Given the description of an element on the screen output the (x, y) to click on. 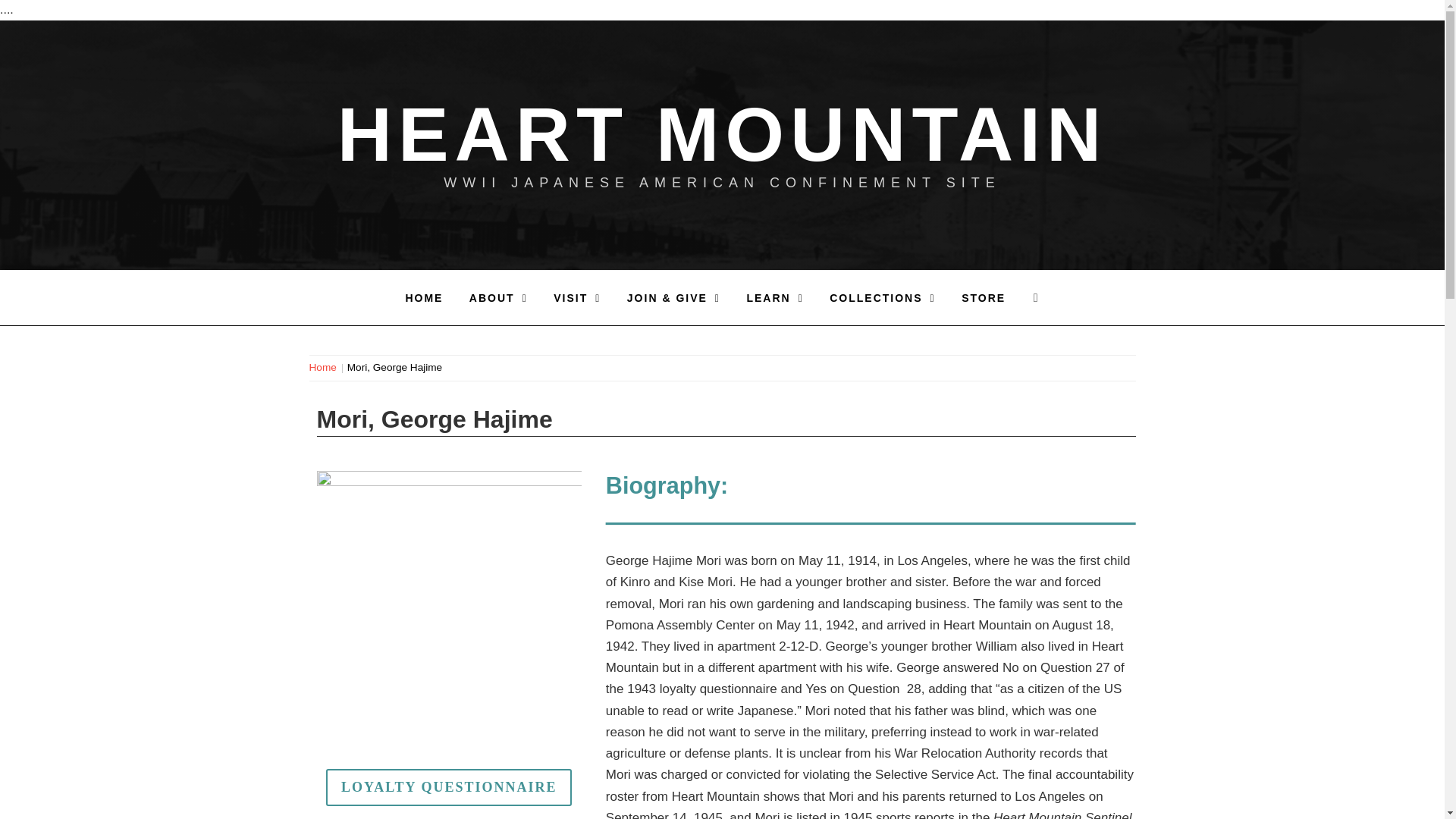
VISIT (576, 298)
ABOUT (498, 298)
HOME (423, 298)
HEART MOUNTAIN (722, 133)
LEARN (774, 298)
